Given the description of an element on the screen output the (x, y) to click on. 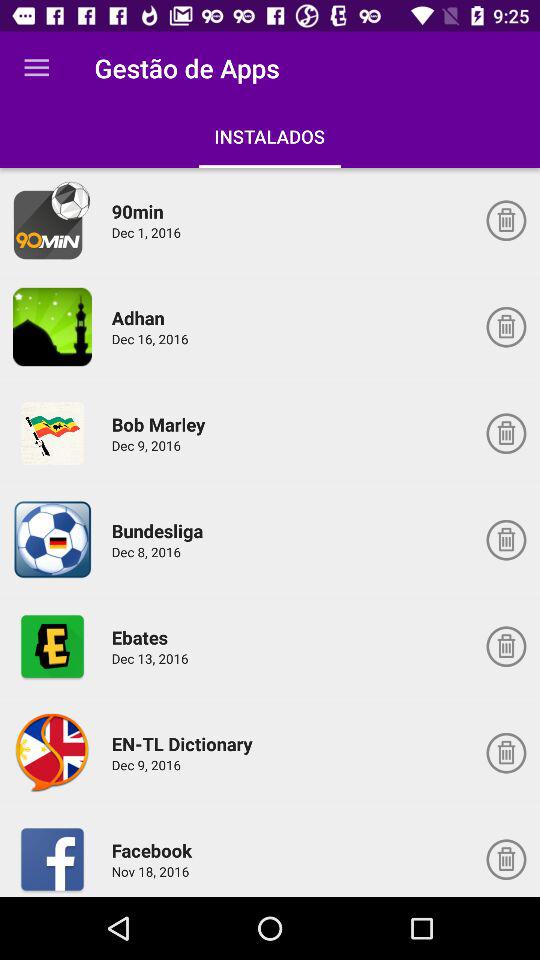
delete from menu (505, 646)
